Given the description of an element on the screen output the (x, y) to click on. 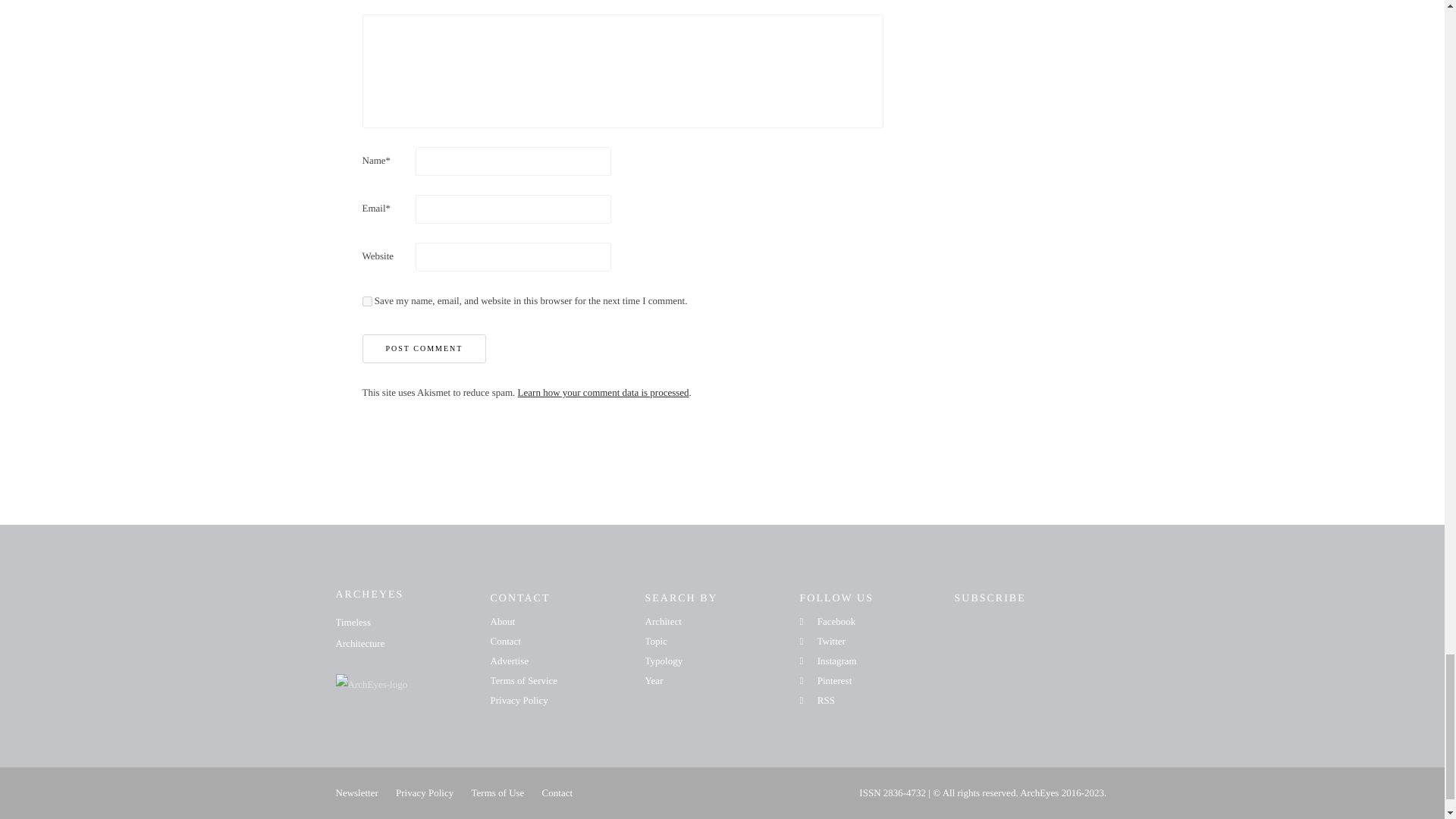
Post comment (424, 348)
Learn how your comment data is processed (603, 392)
yes (367, 301)
Post comment (424, 348)
